Given the description of an element on the screen output the (x, y) to click on. 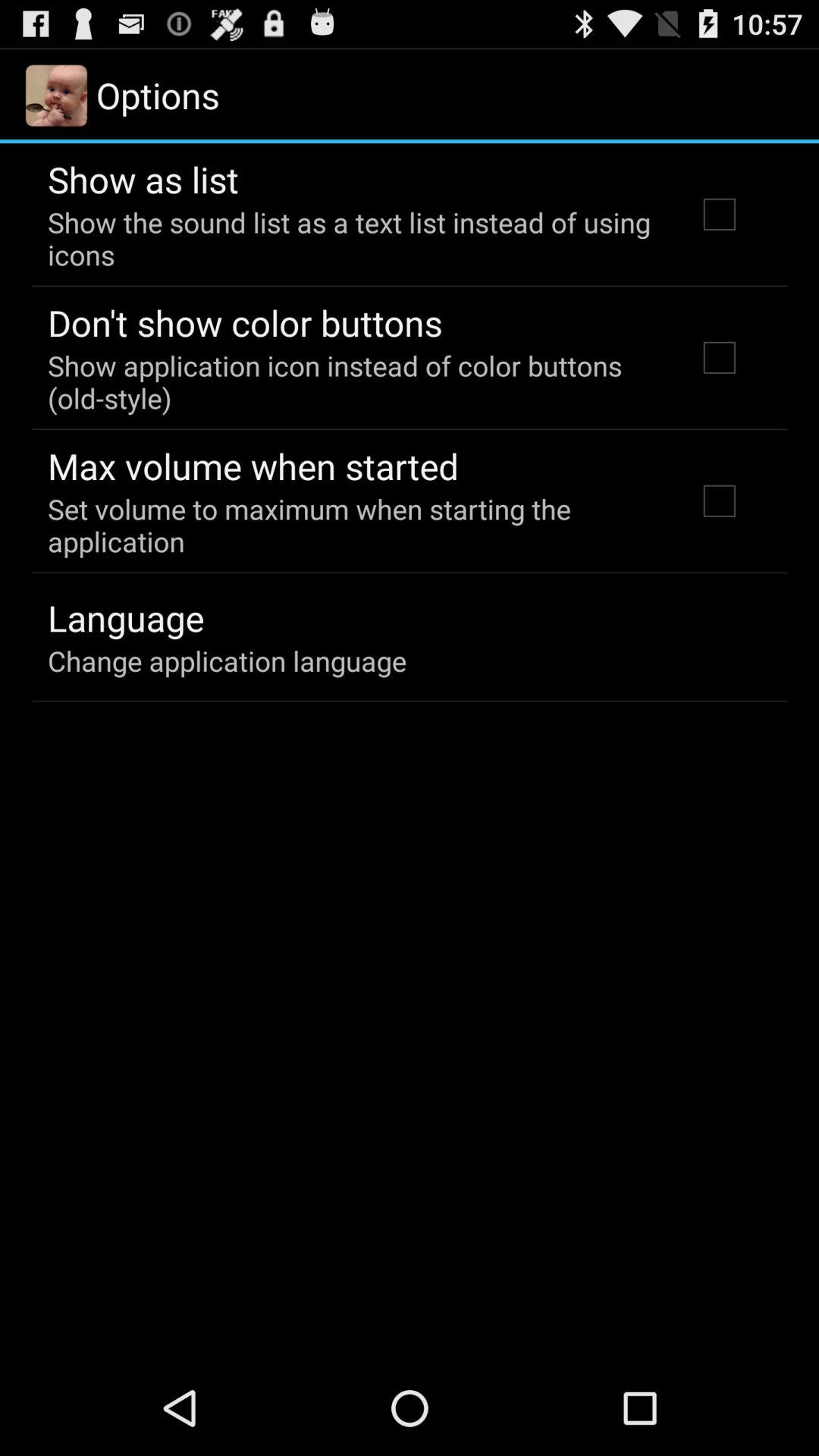
tap the set volume to (351, 525)
